Given the description of an element on the screen output the (x, y) to click on. 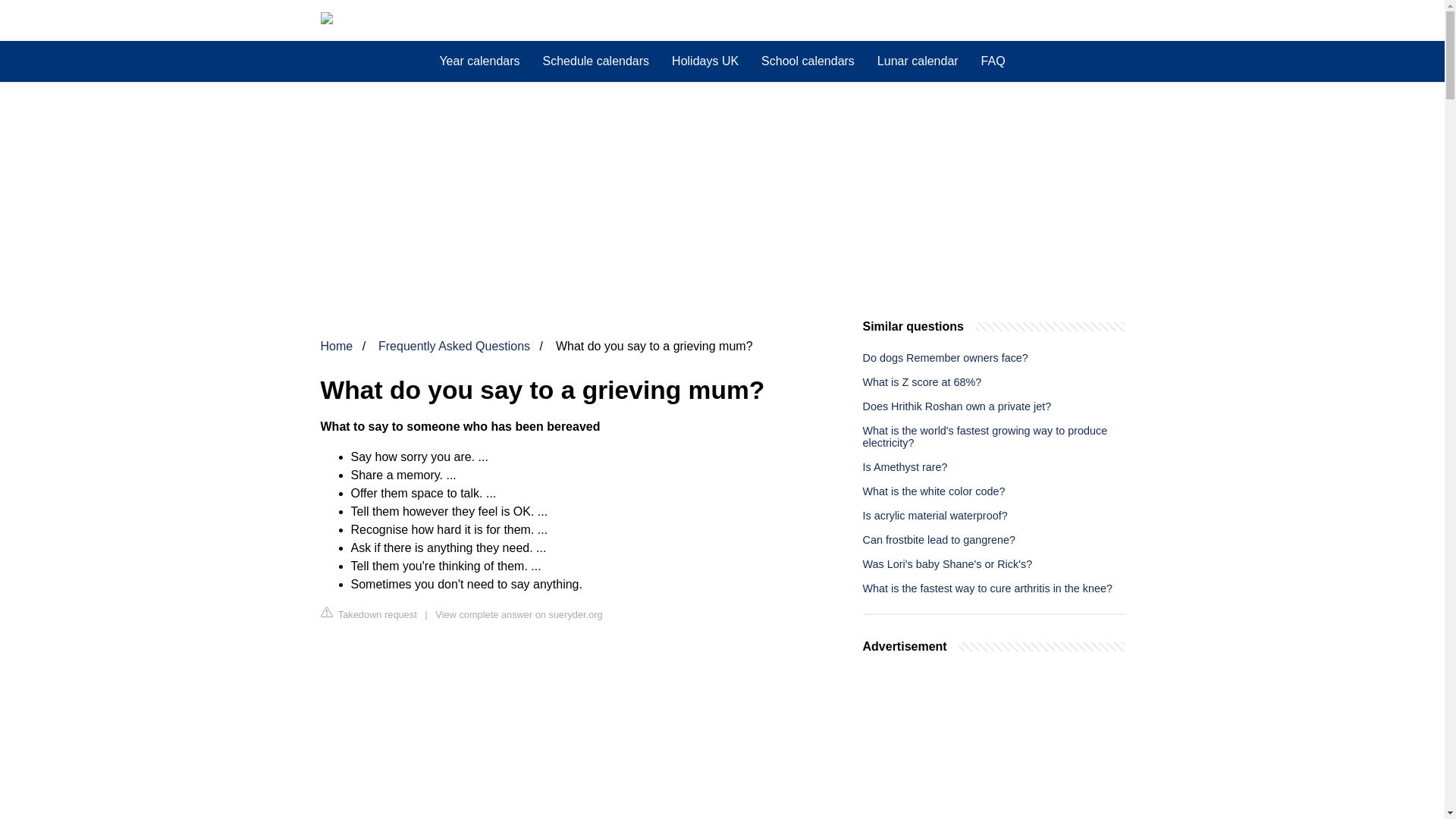
Frequently Asked Questions (453, 345)
Holidays UK (705, 60)
FAQ (992, 60)
Takedown request (368, 613)
School calendars (807, 60)
Schedule calendars (596, 60)
Home (336, 345)
Lunar calendar (917, 60)
View complete answer on sueryder.org (518, 614)
Year calendars (479, 60)
